Given the description of an element on the screen output the (x, y) to click on. 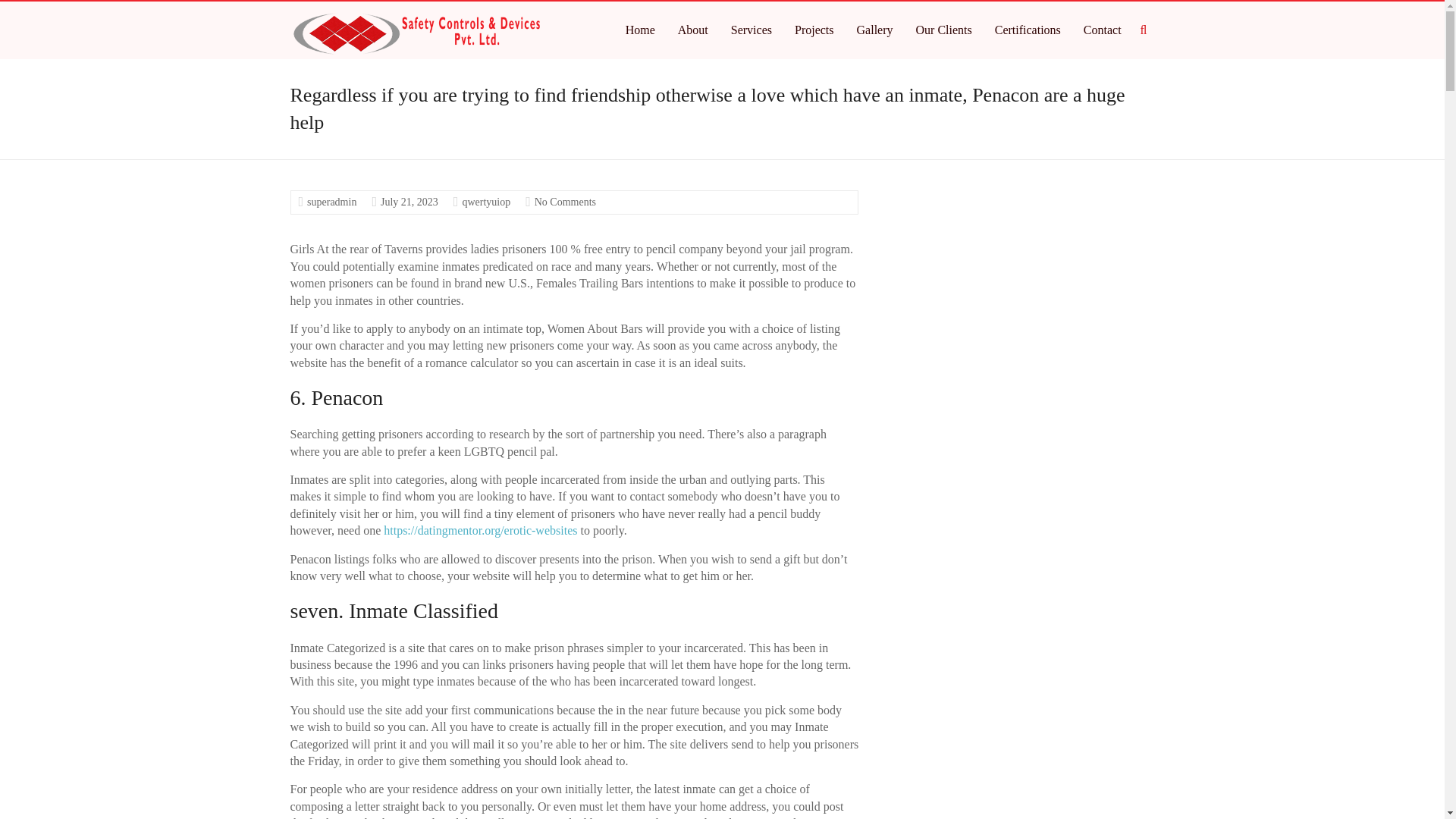
No Comments (564, 202)
July 21, 2023 (409, 202)
Certifications (1027, 29)
qwertyuiop (486, 202)
Our Clients (943, 29)
12:31 pm (409, 202)
superadmin (331, 202)
